Given the description of an element on the screen output the (x, y) to click on. 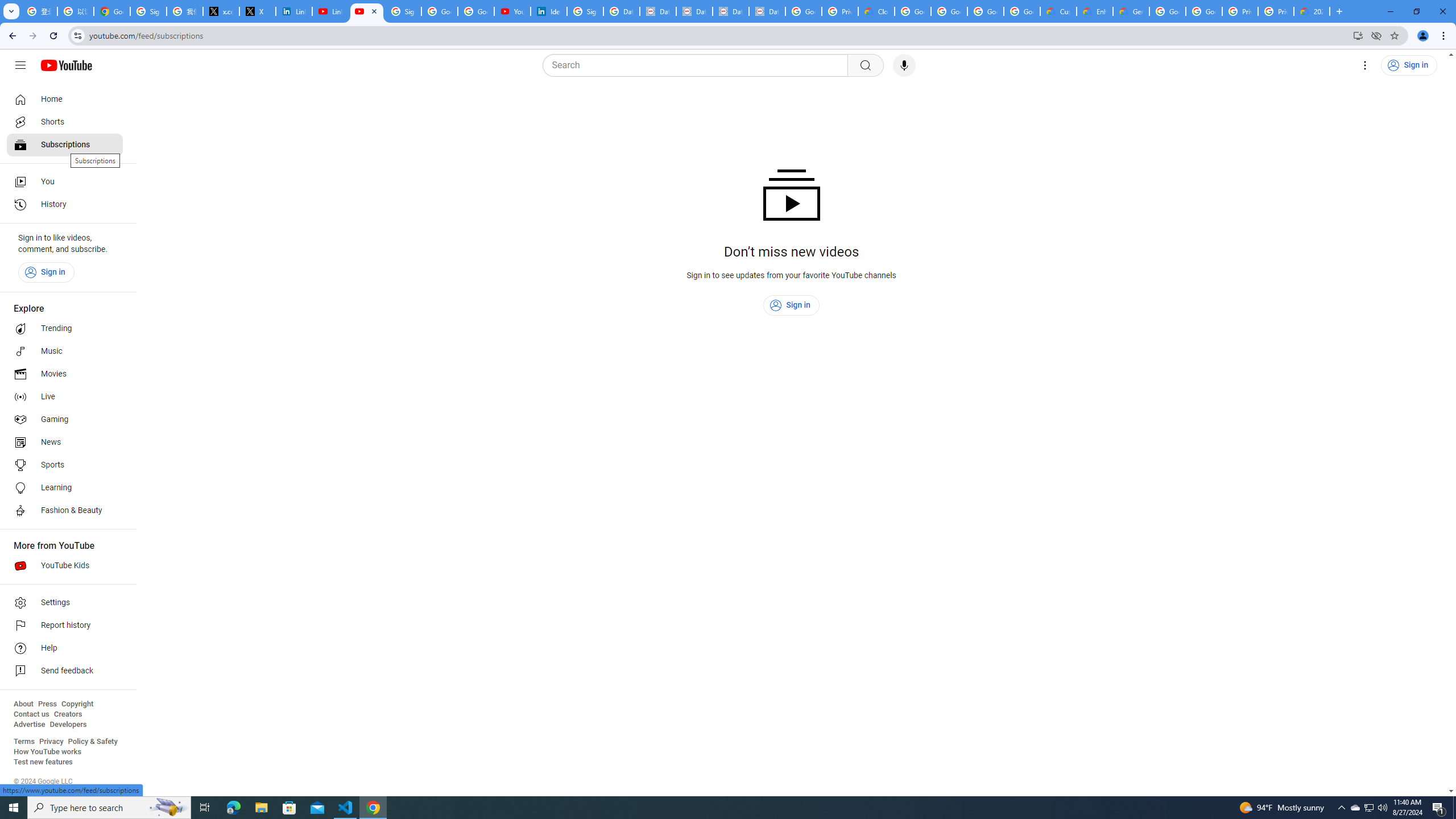
News (64, 441)
Search with your voice (903, 65)
Google Workspace - Specific Terms (985, 11)
Trending (64, 328)
Install YouTube (1358, 35)
